Given the description of an element on the screen output the (x, y) to click on. 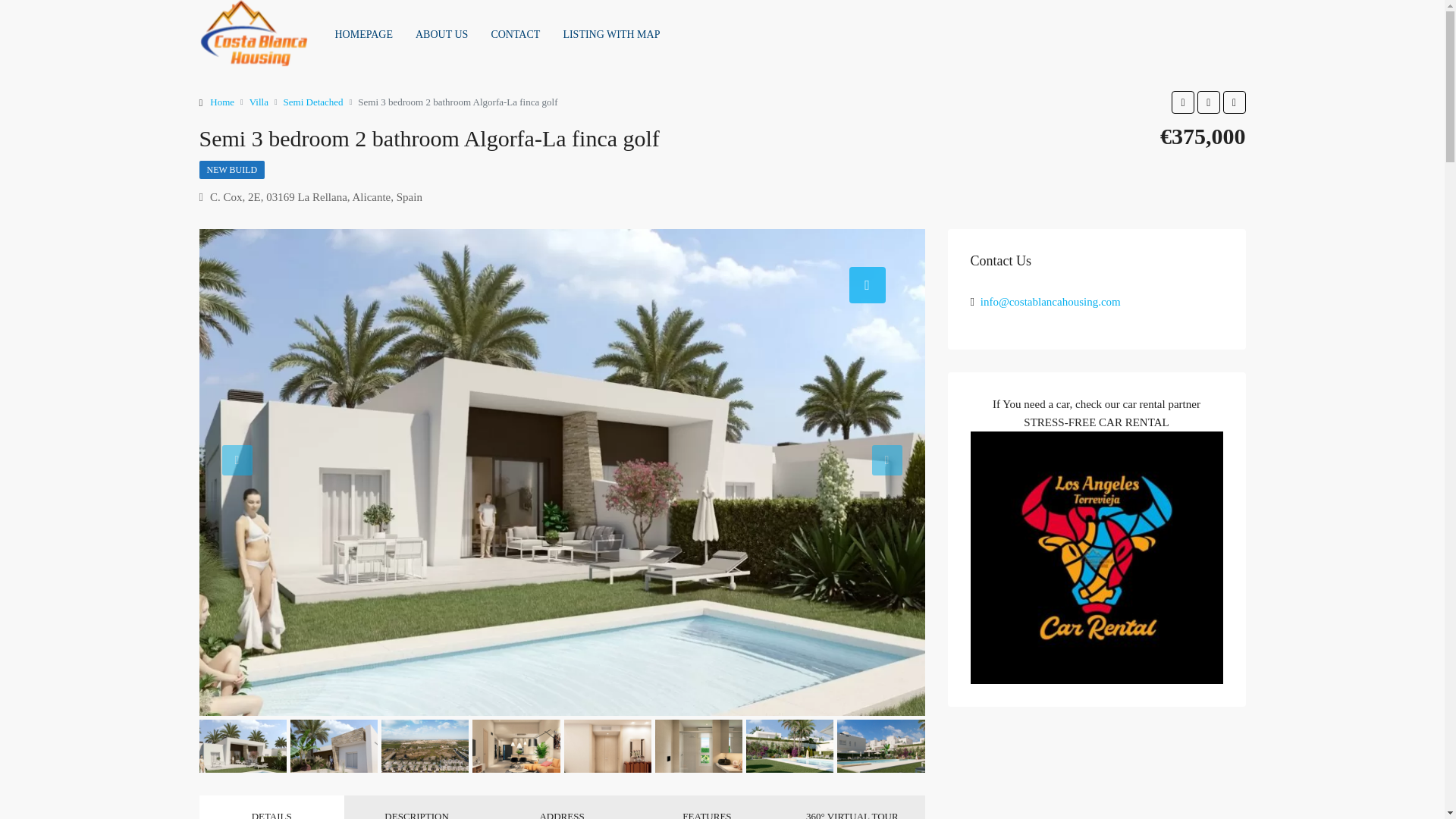
HOMEPAGE (363, 34)
Home (221, 102)
NEW BUILD (231, 169)
ABOUT US (441, 34)
Semi Detached (313, 102)
Villa (257, 102)
CONTACT (515, 34)
LISTING WITH MAP (611, 34)
